Given the description of an element on the screen output the (x, y) to click on. 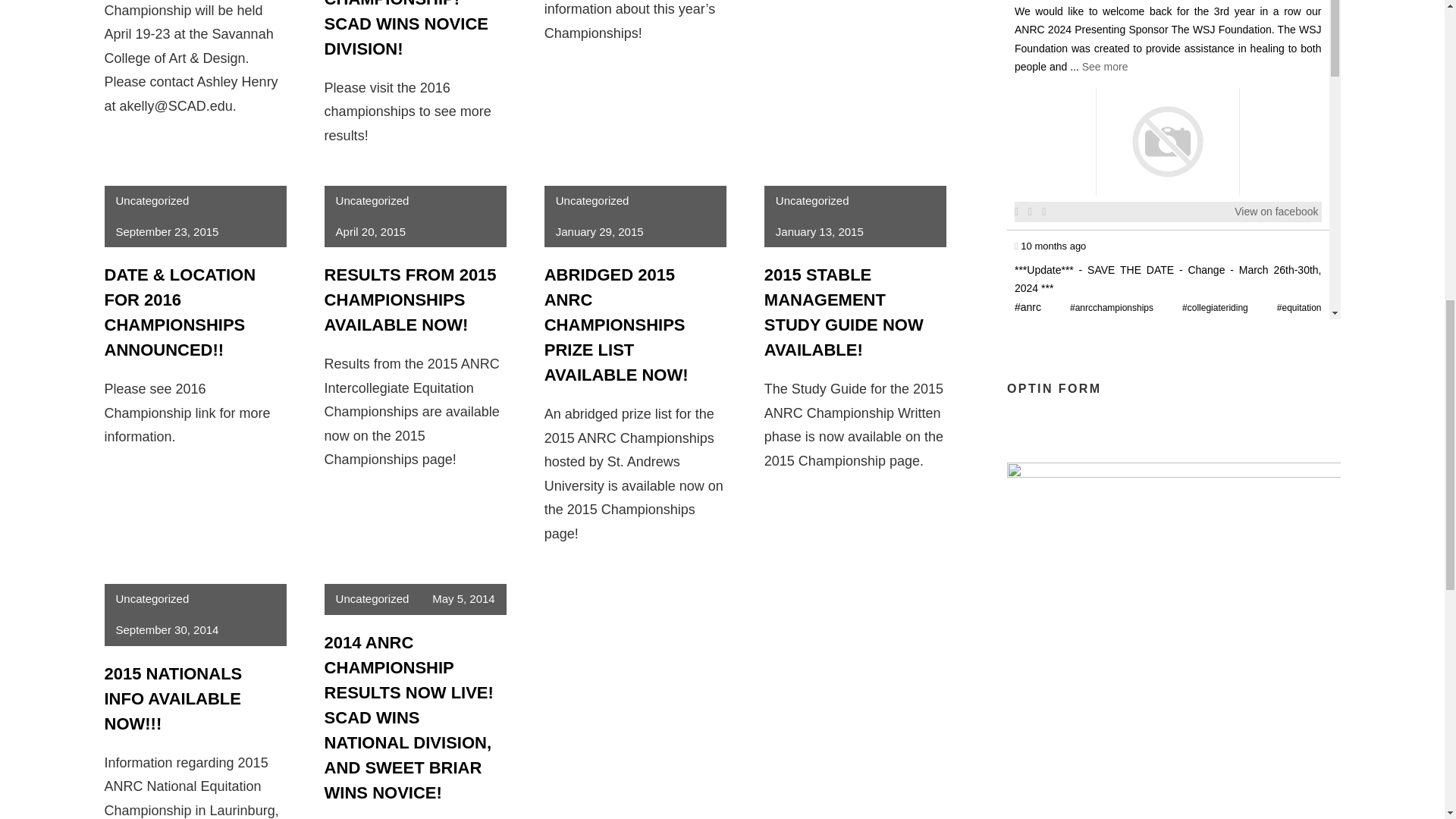
Go to the last page (1206, 703)
View on facebook (1275, 669)
Go to the first page (1129, 703)
View on facebook (1275, 211)
View on facebook (1275, 488)
